Given the description of an element on the screen output the (x, y) to click on. 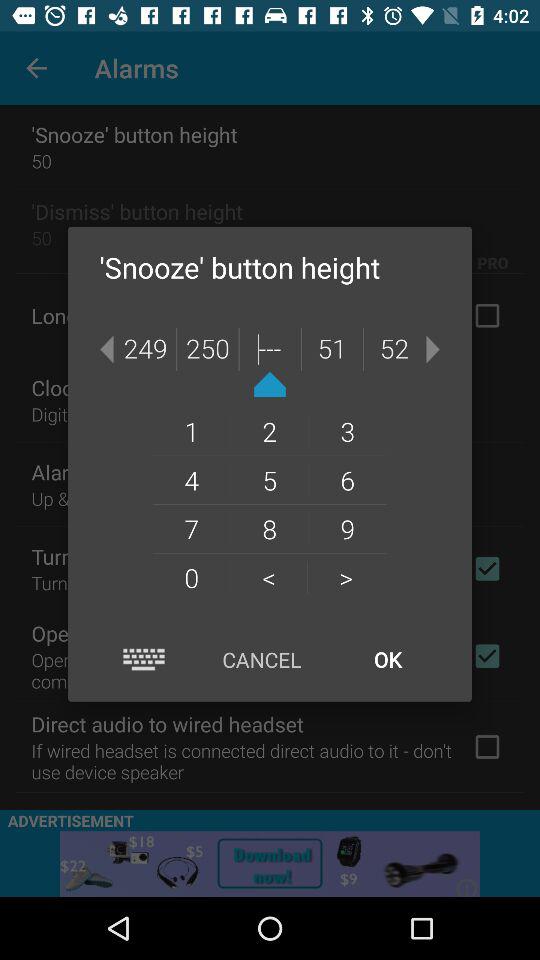
choose 0 icon (191, 577)
